Given the description of an element on the screen output the (x, y) to click on. 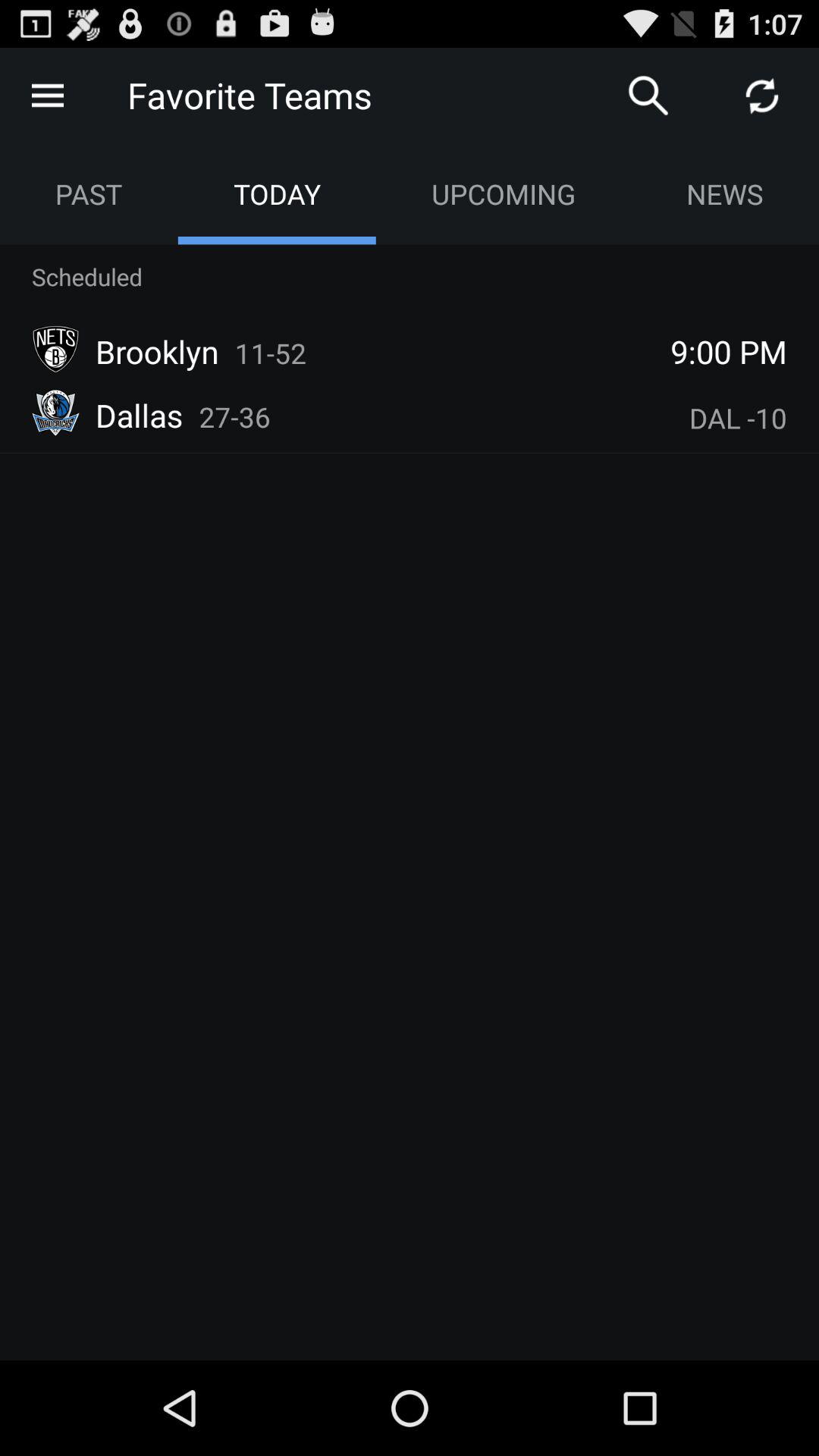
turn off item above news item (762, 95)
